Given the description of an element on the screen output the (x, y) to click on. 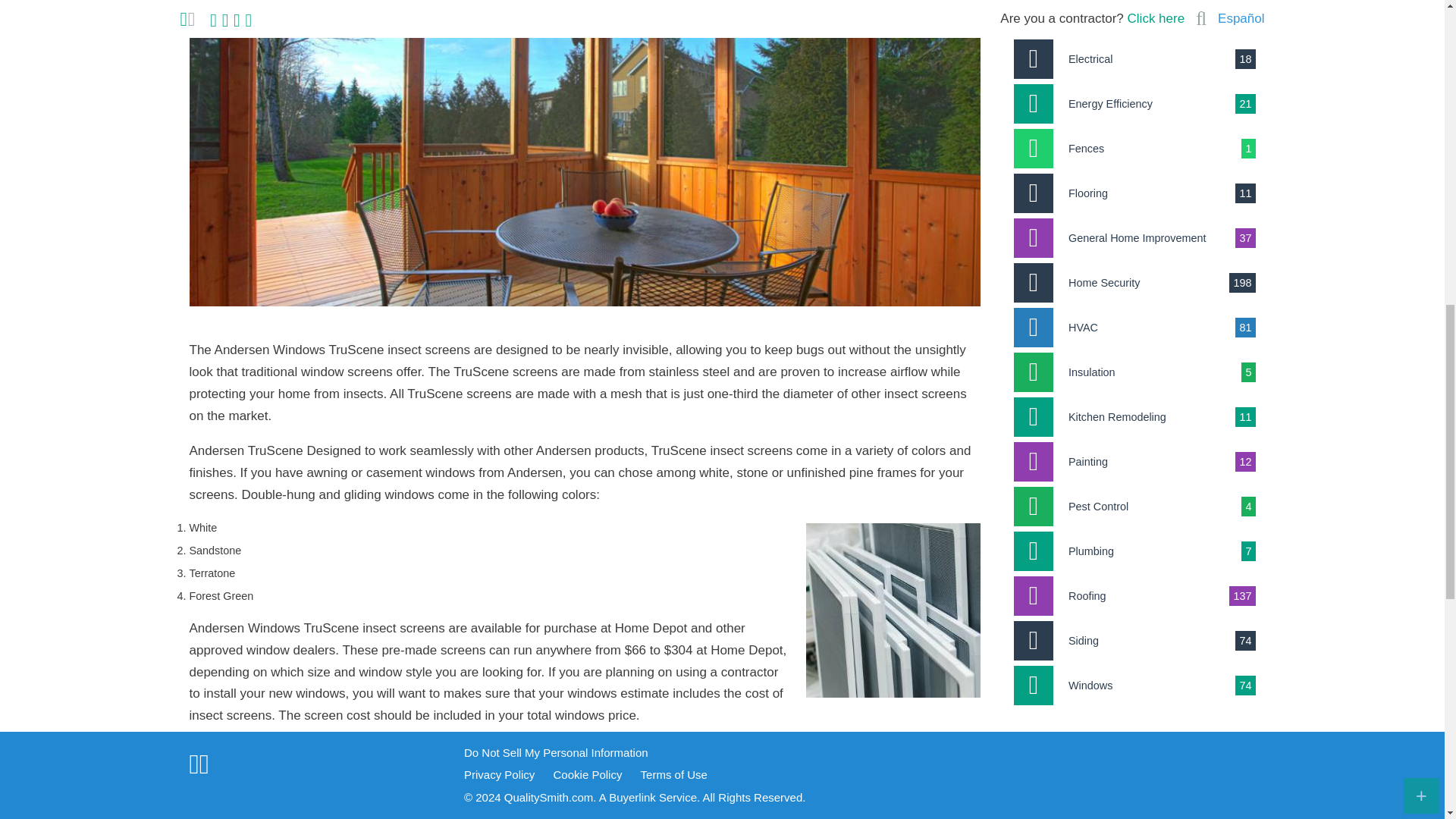
Doors 3 (1134, 17)
General Home Improvement 37 (1134, 237)
Energy Efficiency 21 (1134, 103)
Home Security 198 (1134, 282)
Insulation 5 (1134, 372)
Electrical 18 (1134, 58)
Flooring 11 (1134, 192)
HVAC 81 (1134, 327)
Fences 1 (1134, 148)
